Given the description of an element on the screen output the (x, y) to click on. 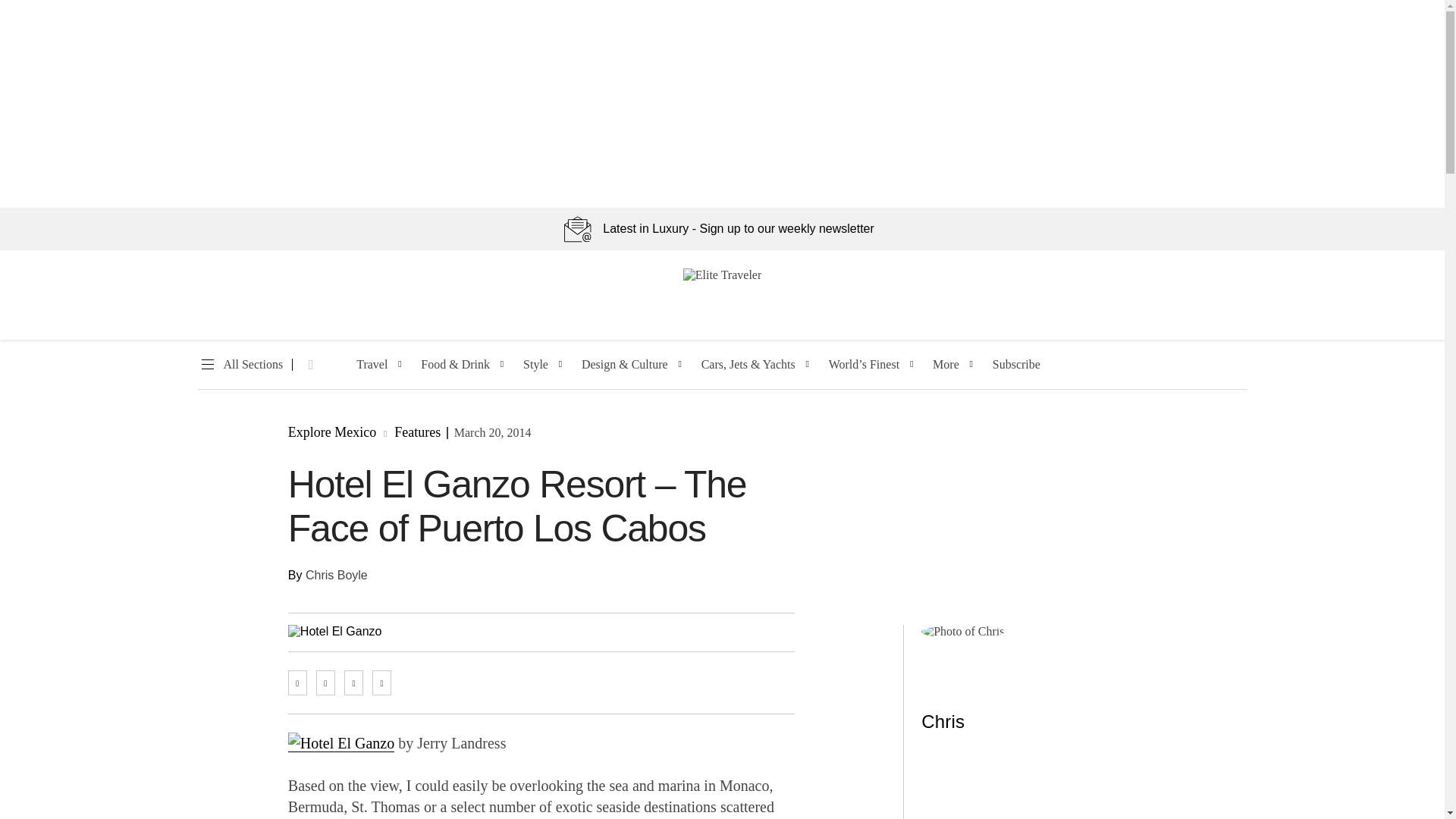
Elite Traveler (721, 274)
Travel (371, 364)
All Sections (239, 364)
